Given the description of an element on the screen output the (x, y) to click on. 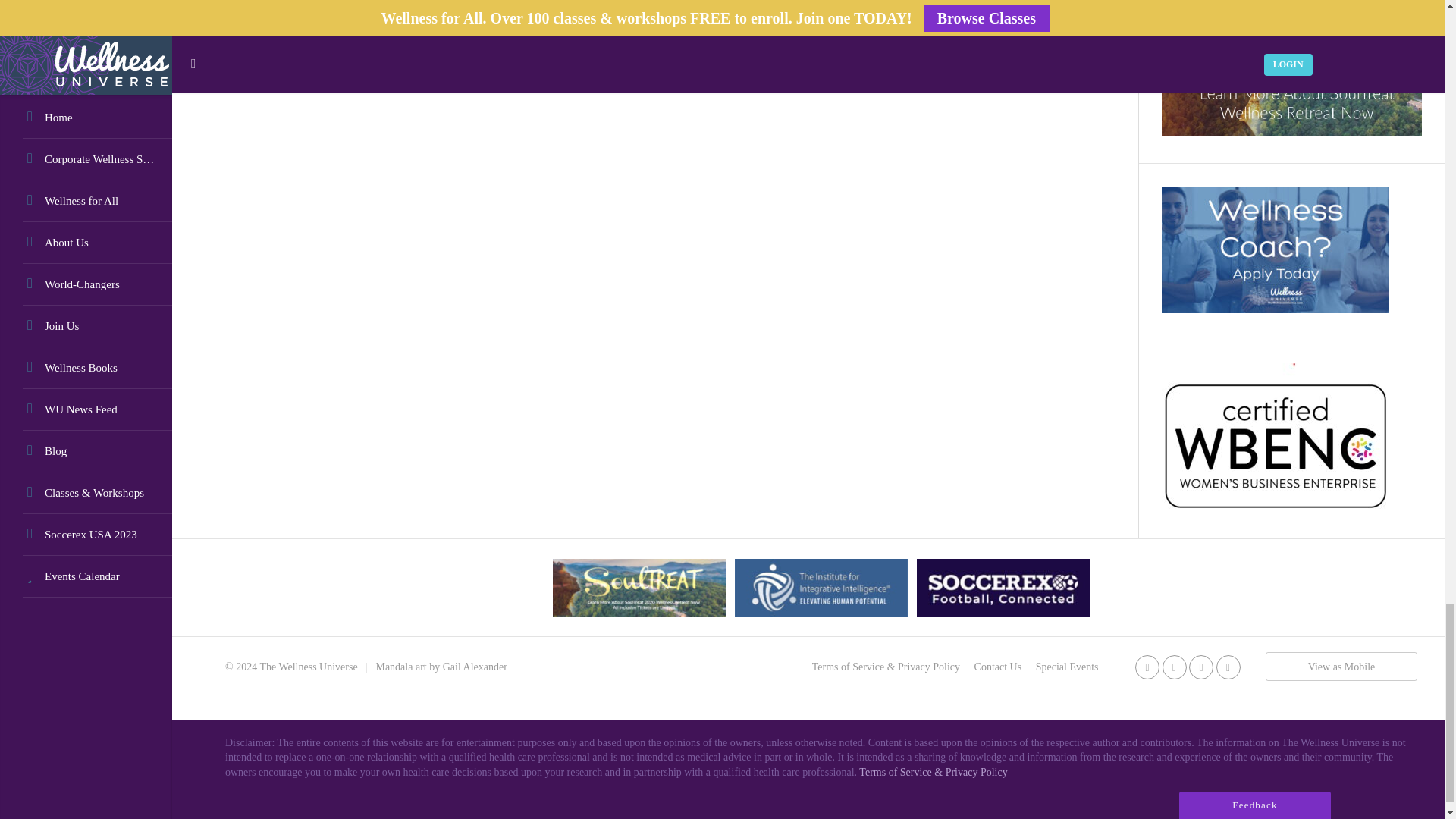
View as Mobile (1340, 665)
